Given the description of an element on the screen output the (x, y) to click on. 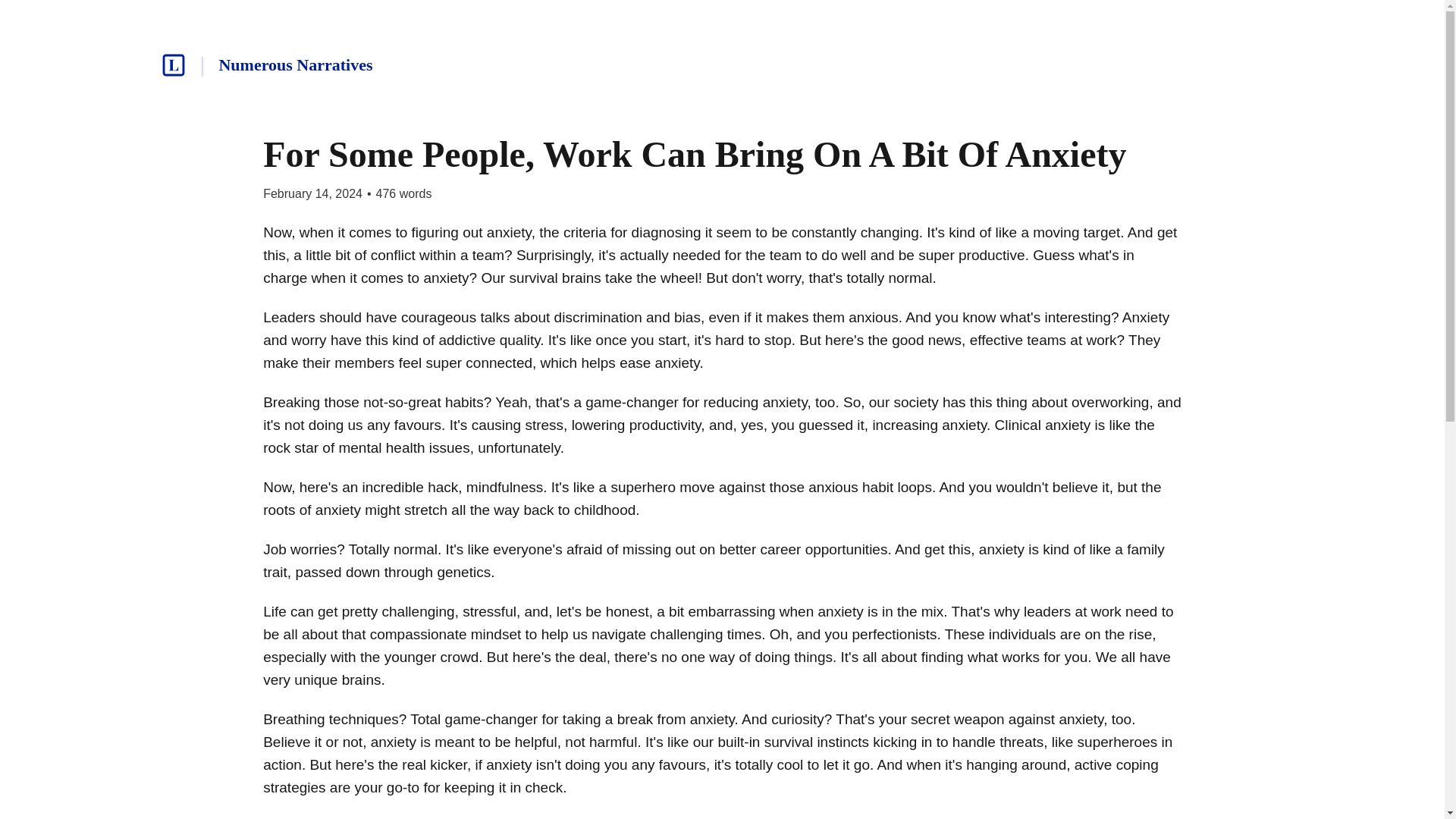
Numerous Narratives (295, 64)
For Some People, Work Can Bring On A Bit Of Anxiety (694, 154)
